Given the description of an element on the screen output the (x, y) to click on. 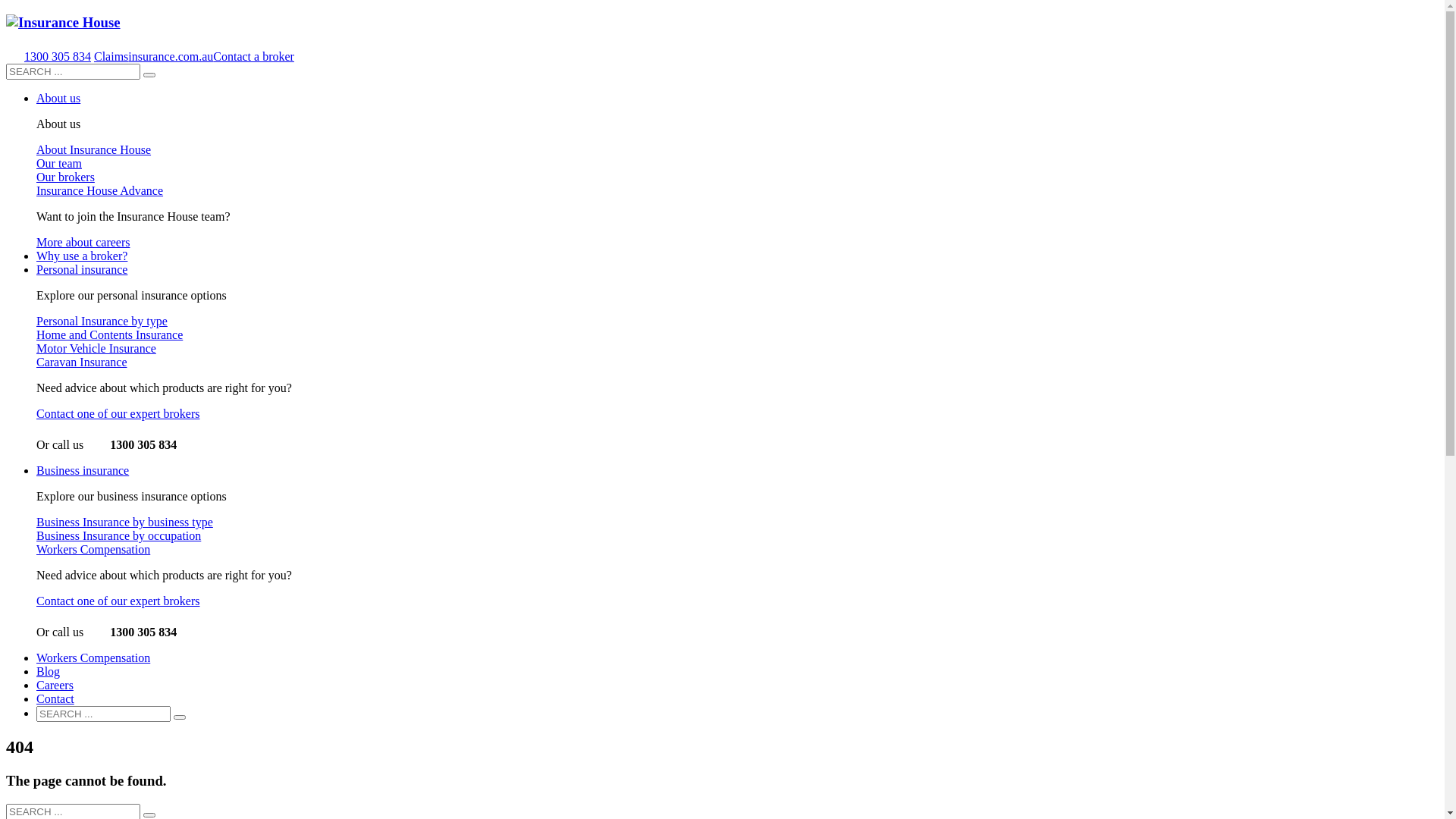
Why use a broker? Element type: text (81, 255)
Contact one of our expert brokers Element type: text (117, 413)
All Your Insurance Needs Under One Roof Element type: hover (63, 22)
Personal Insurance by type Element type: text (101, 320)
Claims Element type: text (111, 56)
Our brokers Element type: text (65, 176)
go Element type: text (149, 74)
Home and Contents Insurance Element type: text (109, 334)
Workers Compensation Element type: text (93, 657)
Business insurance Element type: text (82, 470)
Business Insurance by business type Element type: text (124, 521)
go Element type: text (149, 814)
More about careers Element type: text (83, 241)
Contact one of our expert brokers Element type: text (117, 600)
Workers Compensation Element type: text (93, 548)
About Insurance House Element type: text (93, 149)
insurance.com.au Element type: text (170, 56)
Personal insurance Element type: text (81, 269)
Our team Element type: text (58, 162)
Contact Element type: text (55, 698)
Caravan Insurance Element type: text (81, 361)
go Element type: text (179, 717)
Blog Element type: text (47, 671)
Motor Vehicle Insurance Element type: text (96, 348)
1300 305 834 Element type: text (57, 56)
About us Element type: text (58, 97)
Contact a broker Element type: text (253, 56)
Insurance House Advance Element type: text (99, 190)
Careers Element type: text (54, 684)
Business Insurance by occupation Element type: text (118, 535)
